Given the description of an element on the screen output the (x, y) to click on. 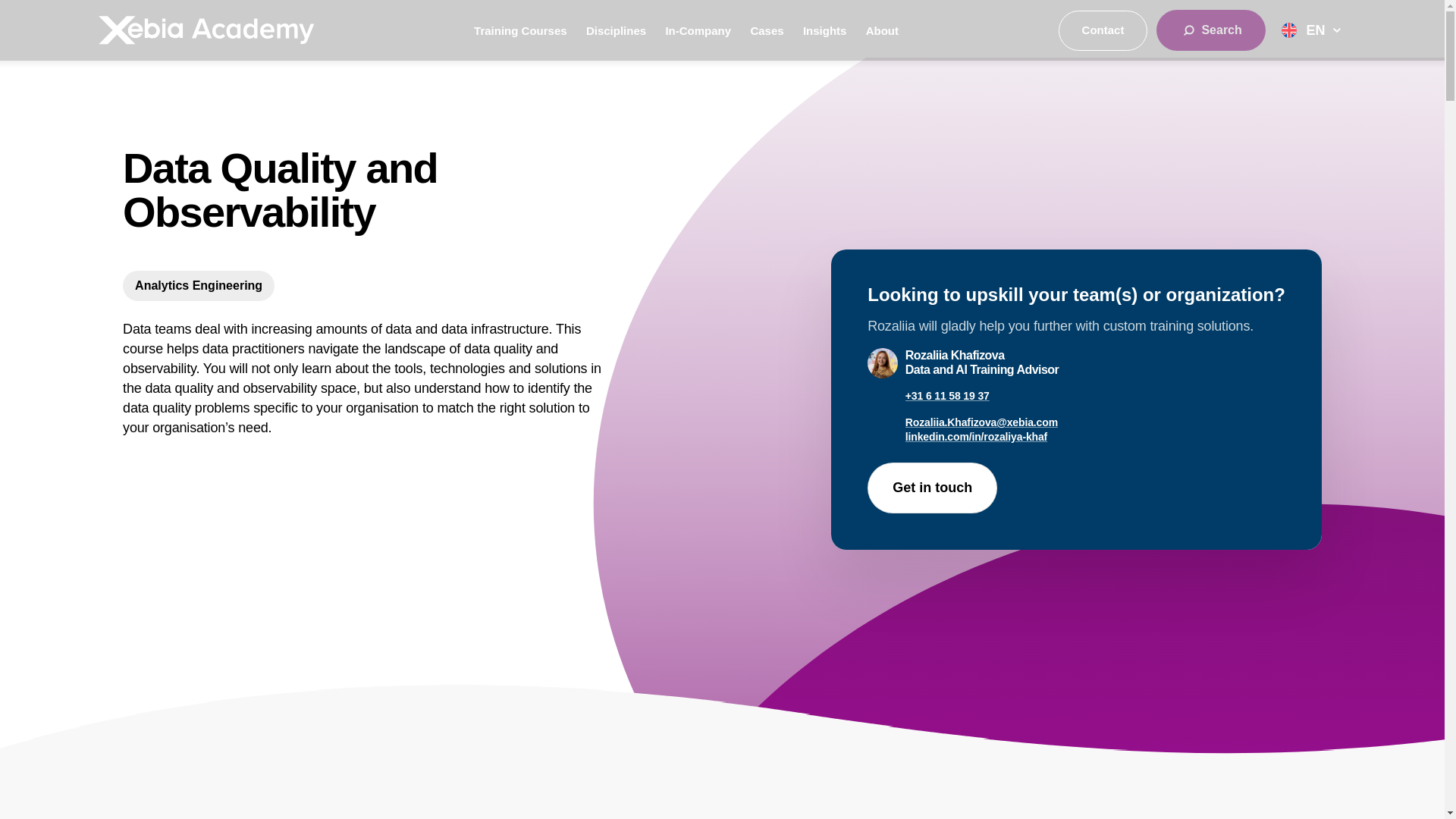
Training Courses (520, 30)
Training Courses (520, 30)
Search (1210, 29)
Disciplines (616, 30)
In-Company (697, 30)
Contact (1103, 30)
Disciplines (616, 30)
In-Company (697, 30)
